Given the description of an element on the screen output the (x, y) to click on. 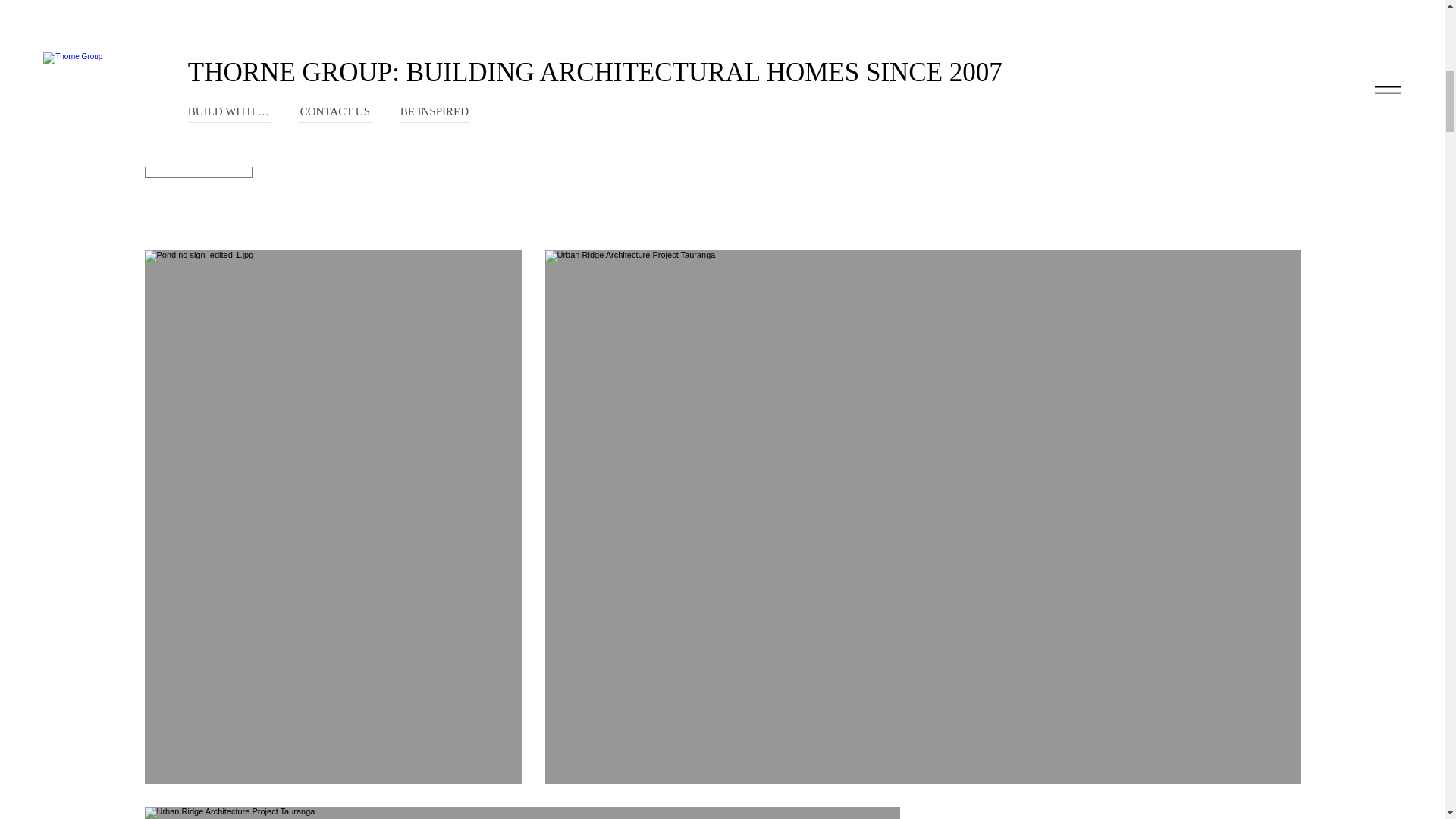
View listings (197, 160)
